Given the description of an element on the screen output the (x, y) to click on. 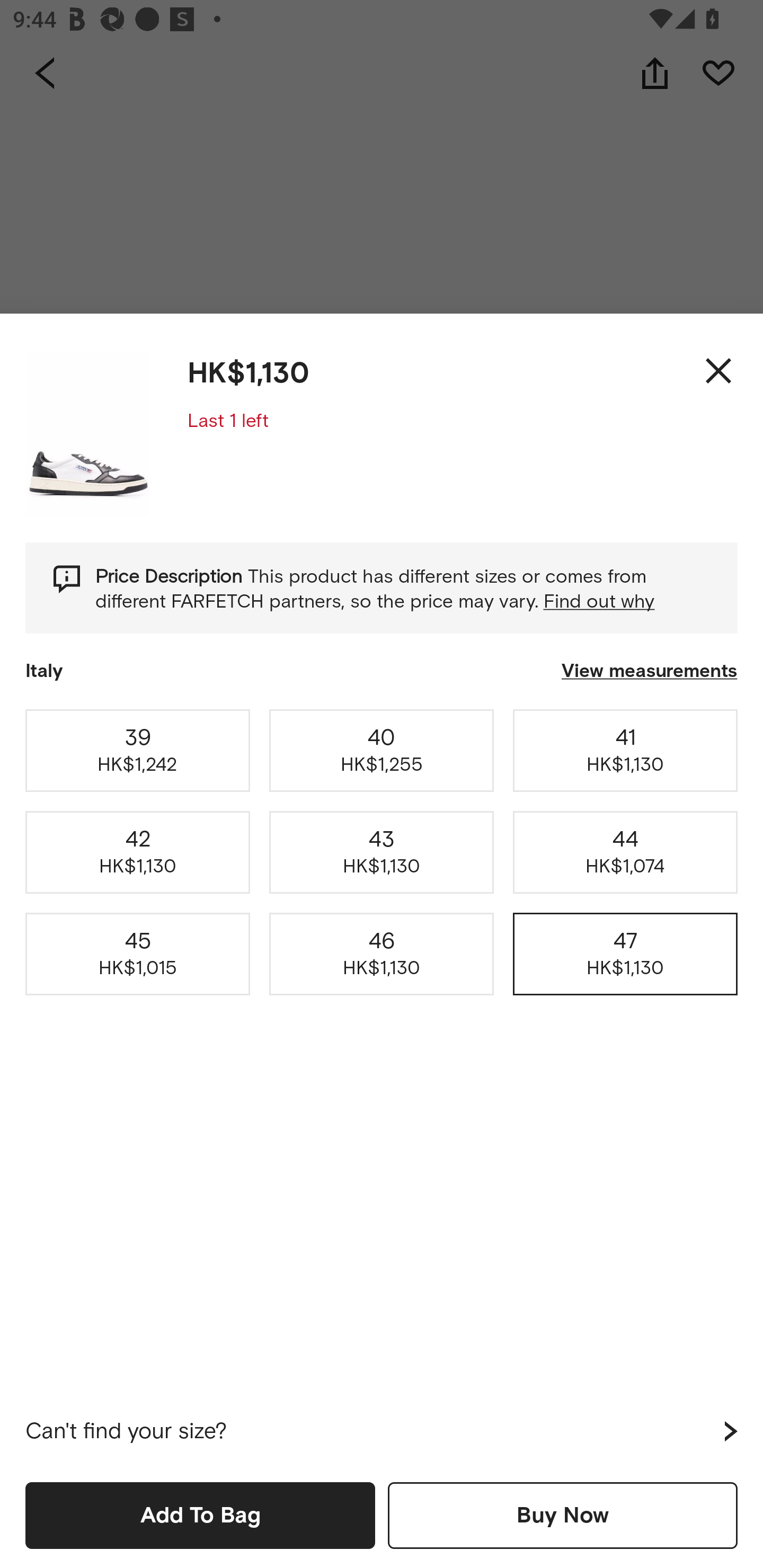
39 HK$1,242 (137, 749)
40 HK$1,255 (381, 749)
41 HK$1,130 (624, 749)
42 HK$1,130 (137, 851)
43 HK$1,130 (381, 851)
44 HK$1,074 (624, 851)
45 HK$1,015 (137, 953)
46 HK$1,130 (381, 953)
47 HK$1,130 (624, 953)
Can't find your size? (381, 1431)
Add To Bag (200, 1515)
Buy Now (562, 1515)
